Given the description of an element on the screen output the (x, y) to click on. 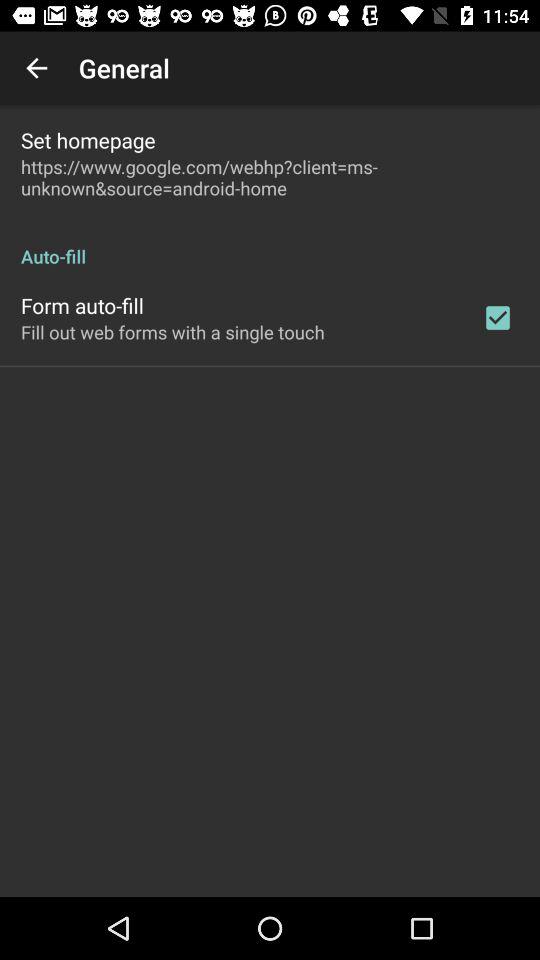
choose icon at the top right corner (497, 317)
